Given the description of an element on the screen output the (x, y) to click on. 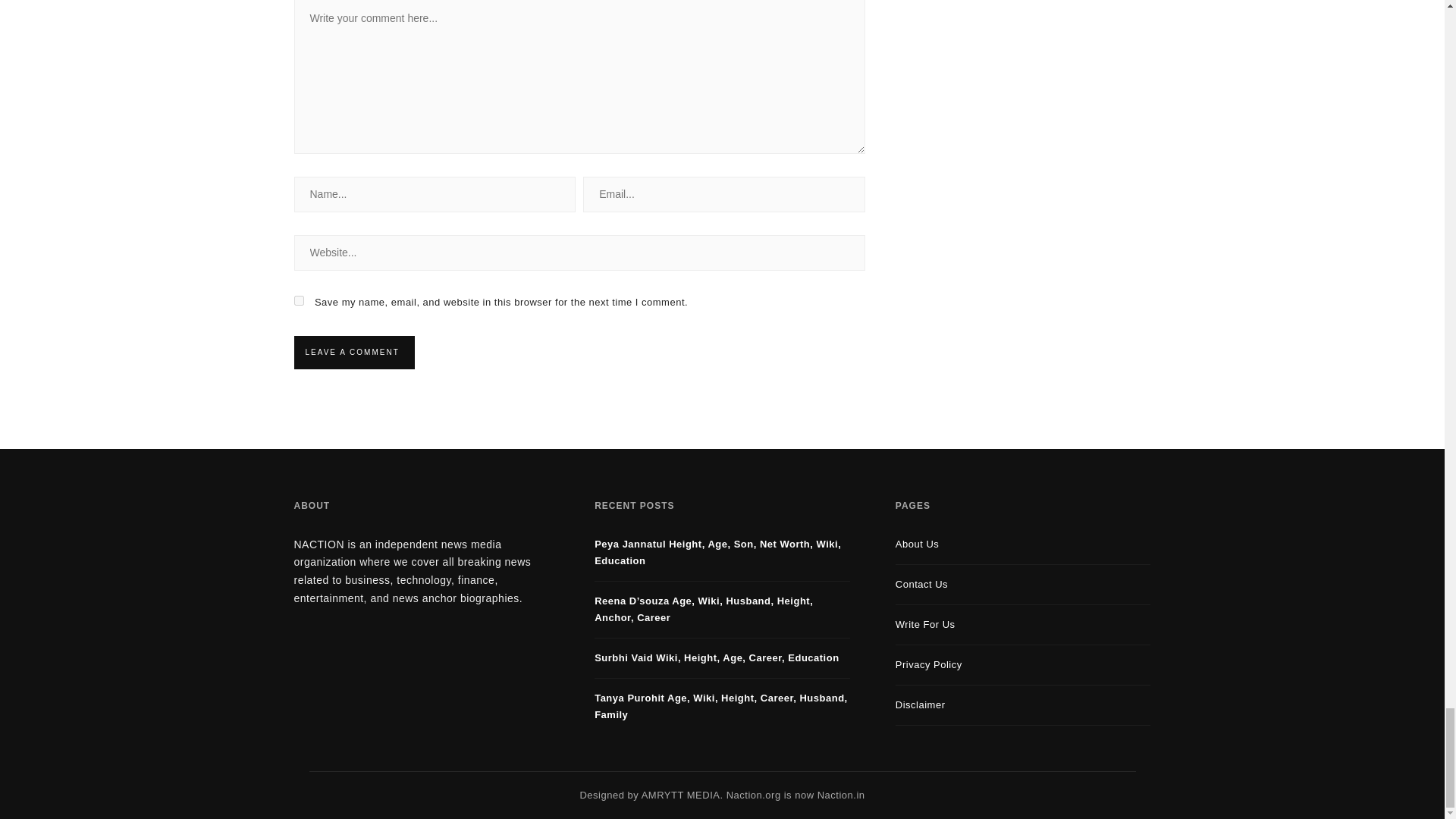
yes (299, 300)
Leave a comment (351, 352)
